Given the description of an element on the screen output the (x, y) to click on. 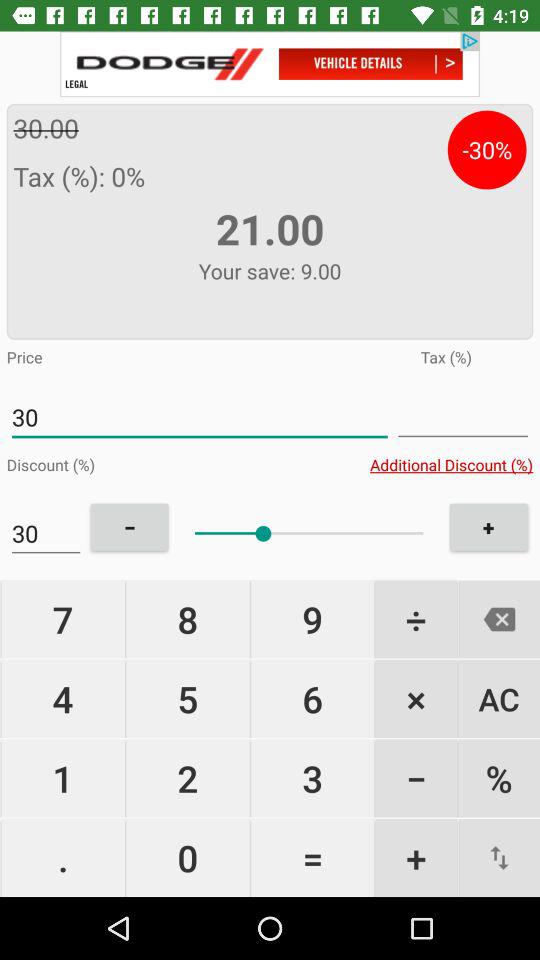
line (463, 417)
